Given the description of an element on the screen output the (x, y) to click on. 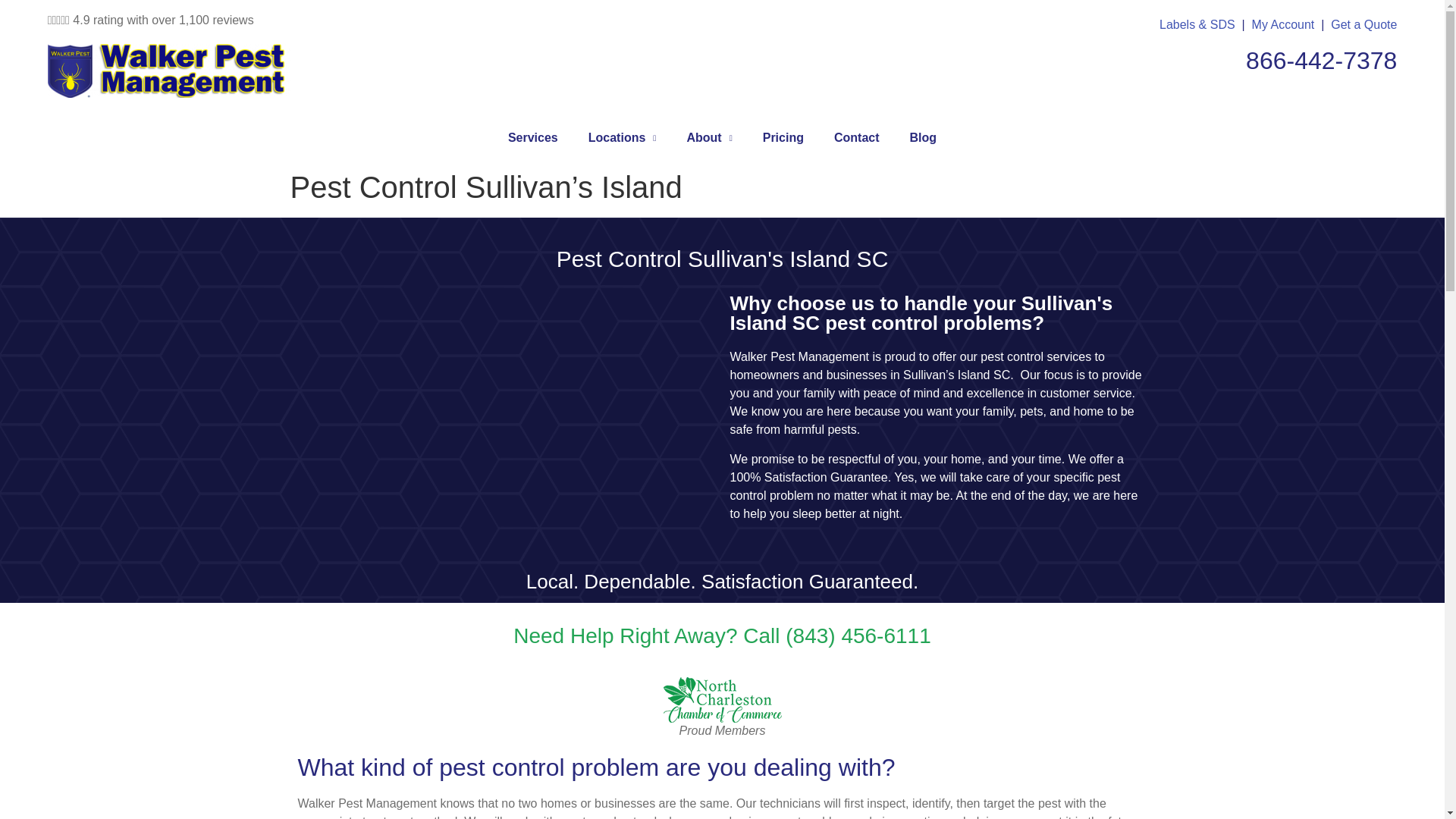
About (708, 137)
Pest control services we offer. (533, 137)
Get a Quote (1363, 24)
866-442-7378 (1321, 60)
Locations (622, 137)
My Account (1283, 24)
Contact (856, 137)
Blog (923, 137)
Pricing (783, 137)
Service area by county and city. (622, 137)
